Given the description of an element on the screen output the (x, y) to click on. 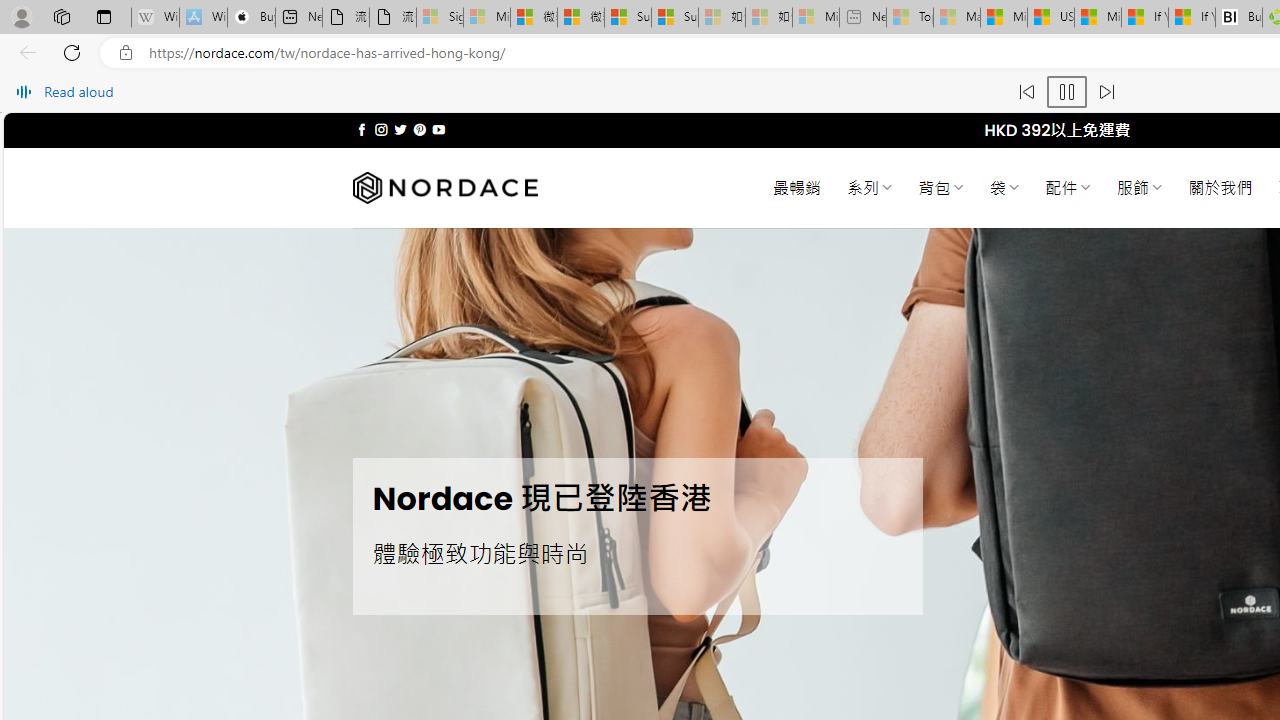
Follow on Twitter (400, 129)
Read previous paragraph (1026, 92)
